Given the description of an element on the screen output the (x, y) to click on. 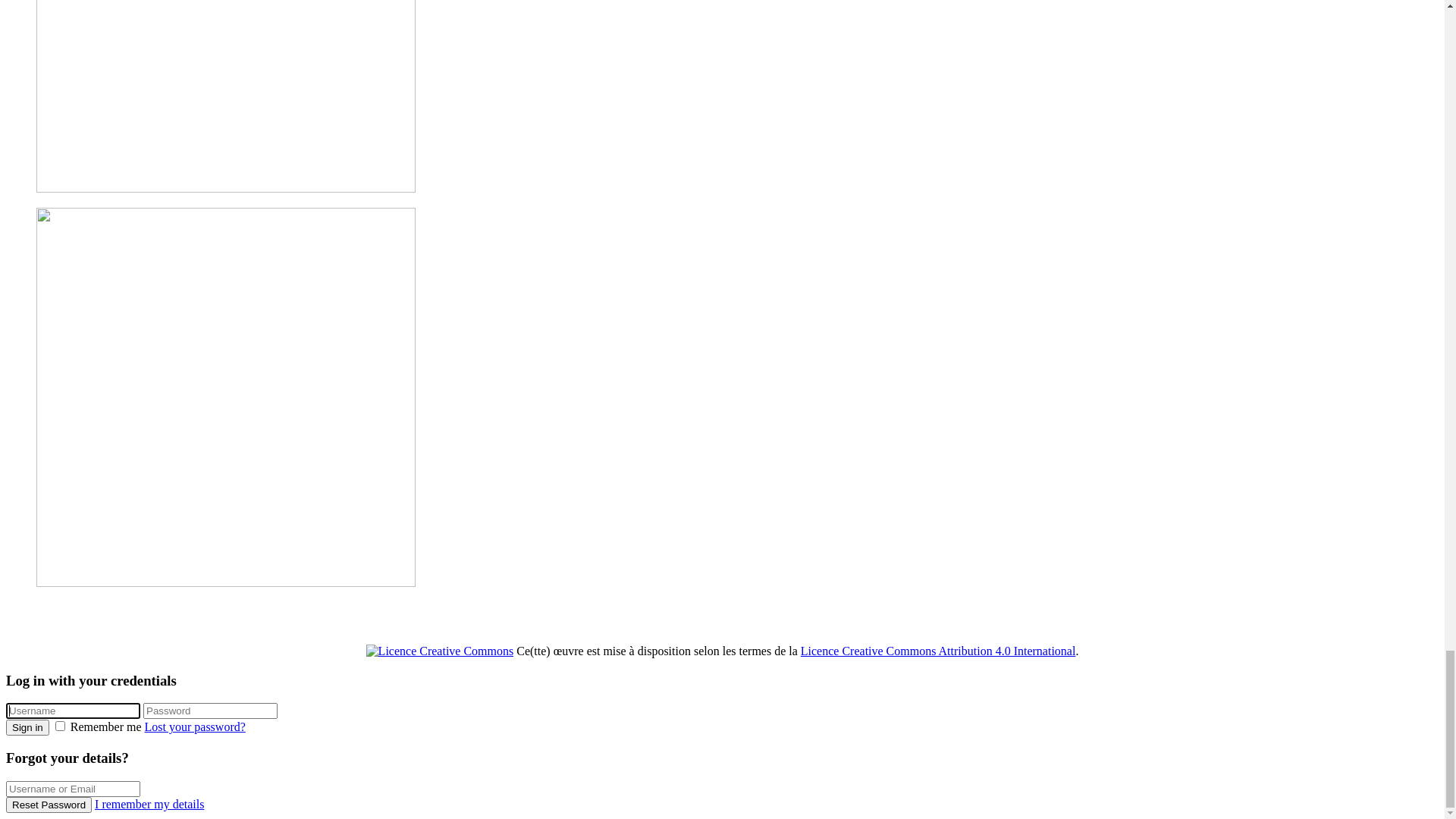
PARTNERS Element type: text (66, 315)
Quatorze Element type: hover (74, 34)
Le Square Element type: text (1411, 670)
English Element type: hover (43, 342)
PROJECTS Element type: text (65, 97)
PUBLICATIONS Element type: text (109, 260)
APPROACH Element type: text (68, 124)
CONTACT US Element type: text (73, 329)
LAB14 Element type: text (54, 110)
TEAM Element type: text (53, 192)
EXPERTISE Element type: text (97, 151)
EXHIBITIONS & AWARDS Element type: text (137, 274)
PUBLICATIONS Element type: text (79, 247)
Toggle navigation Element type: text (51, 13)
PARTICIPATORY TOOLBOX Element type: text (141, 165)
NEWS Element type: text (53, 83)
PRESS Element type: text (84, 301)
VOLUNTEERS Element type: text (106, 219)
APPROACH Element type: text (98, 137)
TEAM Element type: text (83, 206)
GOVERNANCE Element type: text (108, 178)
REPORTS Element type: text (92, 288)
JOIN US Element type: text (88, 233)
